Given the description of an element on the screen output the (x, y) to click on. 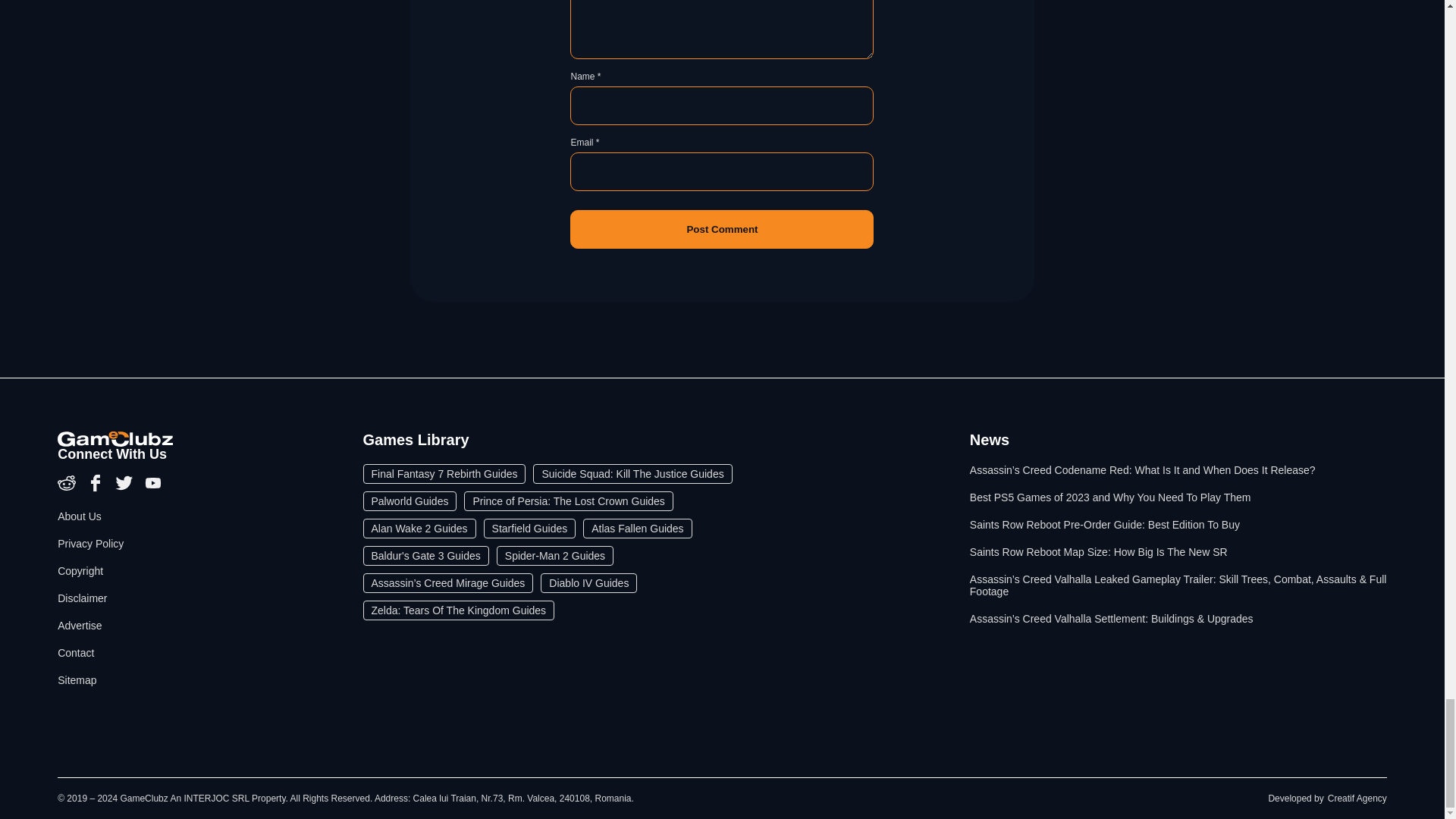
twitter (125, 488)
facebook (96, 488)
Creatif Agency web design (1357, 798)
youtube (152, 488)
Post Comment (721, 228)
instagram (68, 488)
